Given the description of an element on the screen output the (x, y) to click on. 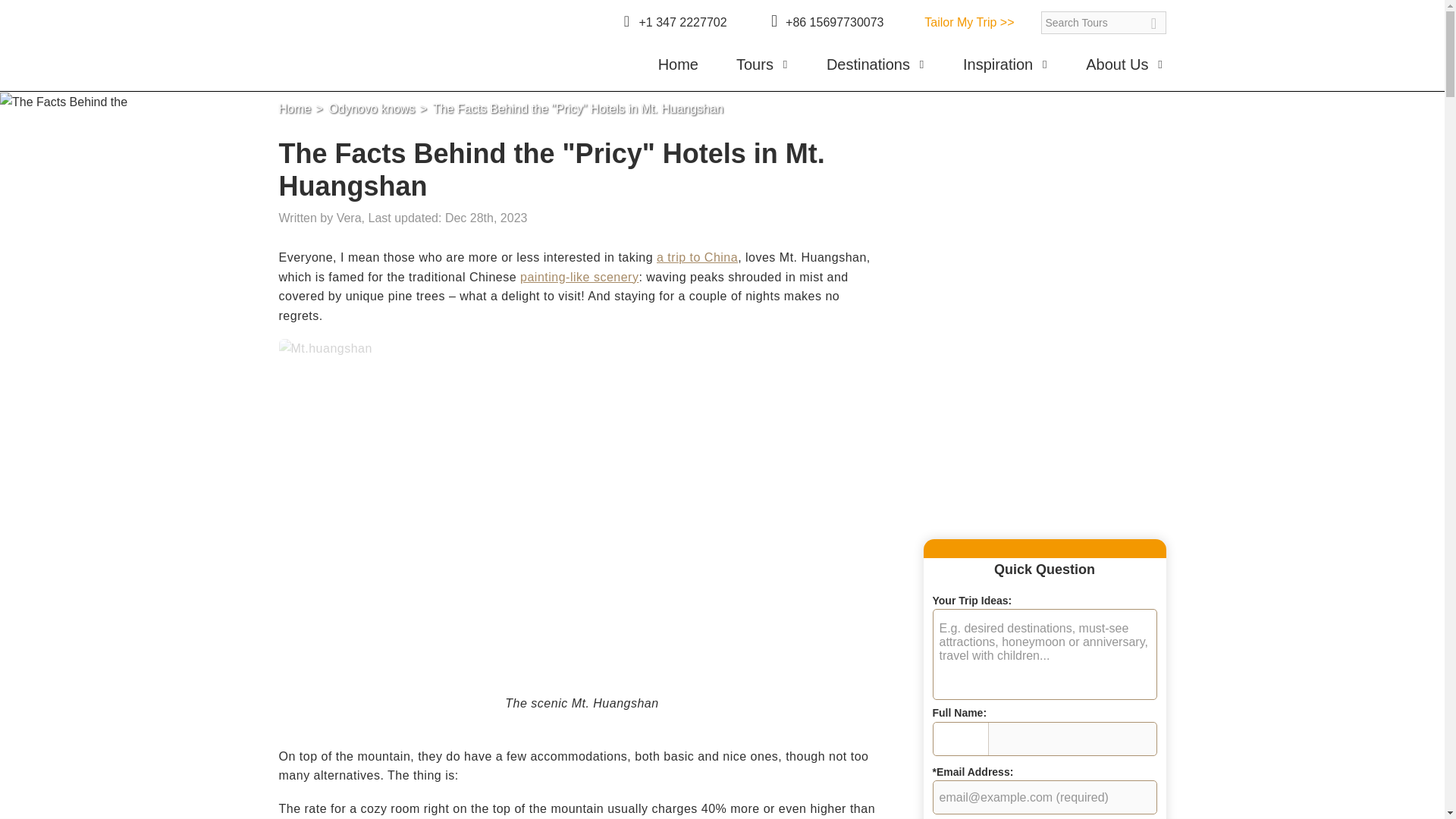
Inspiration (1005, 70)
Destinations (875, 70)
Tours (762, 70)
Home (678, 70)
